Given the description of an element on the screen output the (x, y) to click on. 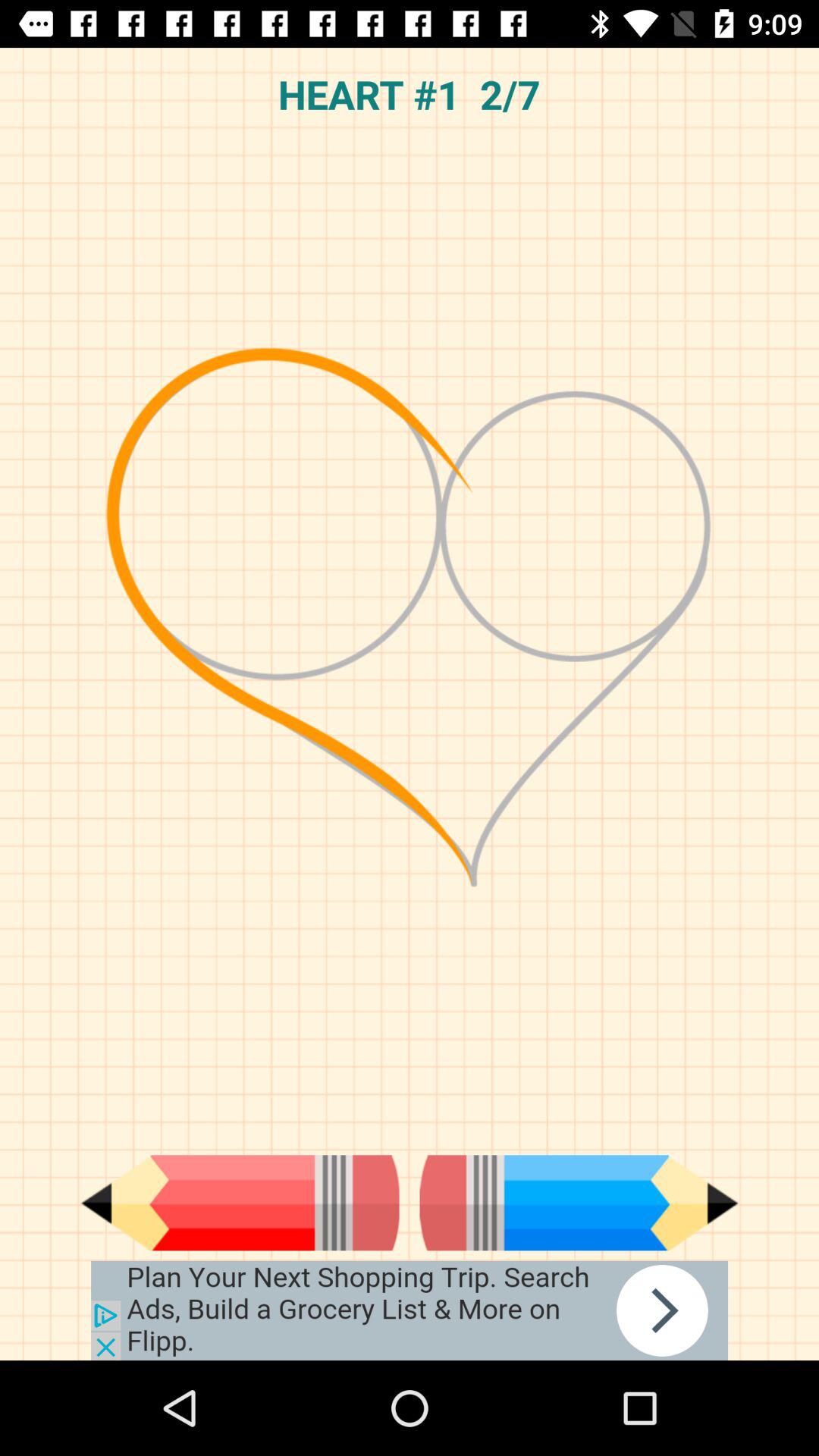
toggle advertisement (409, 1310)
